Given the description of an element on the screen output the (x, y) to click on. 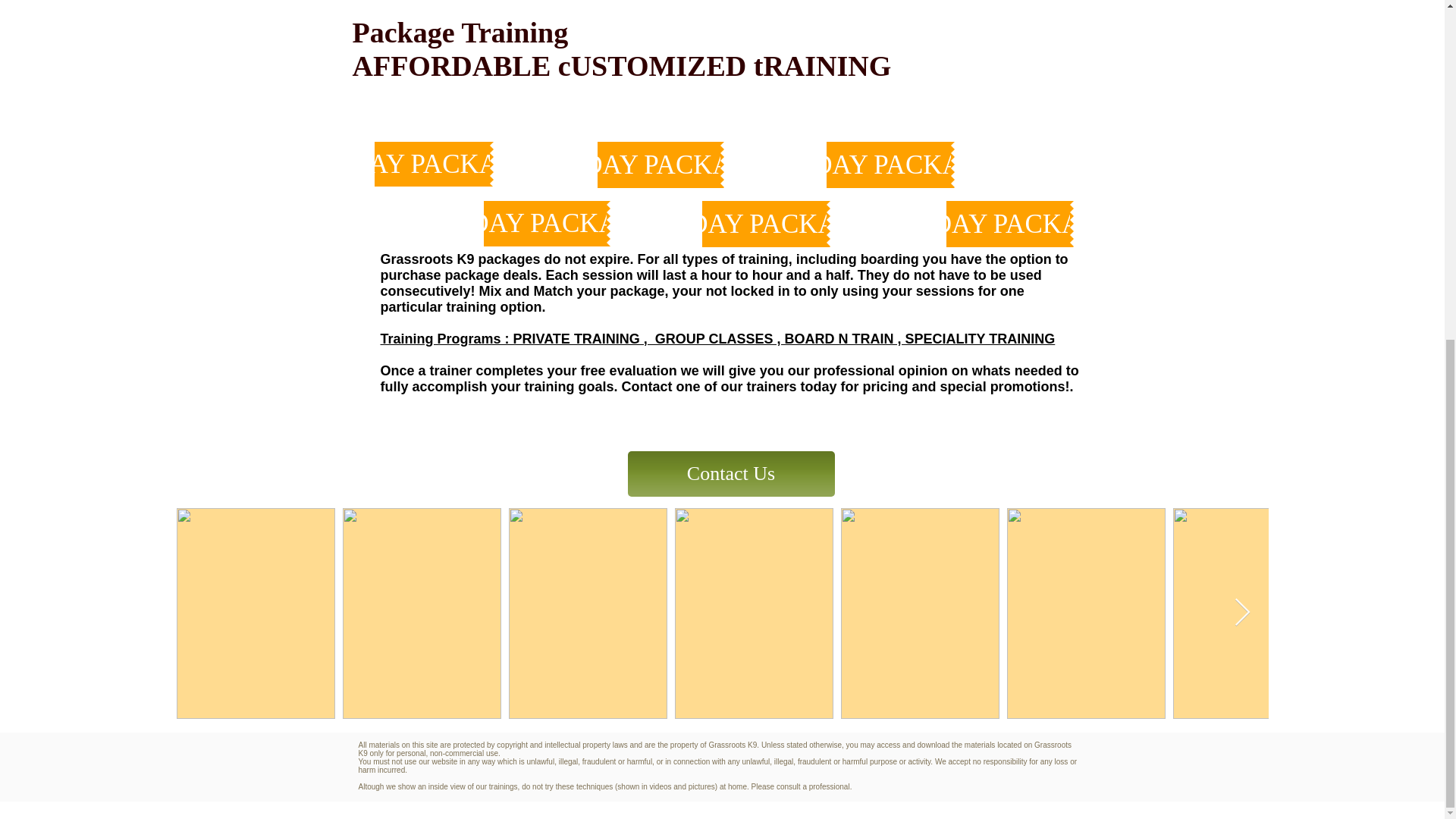
20 DAY PACKAGE (764, 223)
Contact Us (730, 473)
10 DAY PACKAGE (545, 223)
60 DAY PACKAGE (1008, 223)
5 DAY PACKAGE (431, 163)
15 DAY PACKAGE (658, 164)
30 DAY PACKAGE (888, 164)
